Given the description of an element on the screen output the (x, y) to click on. 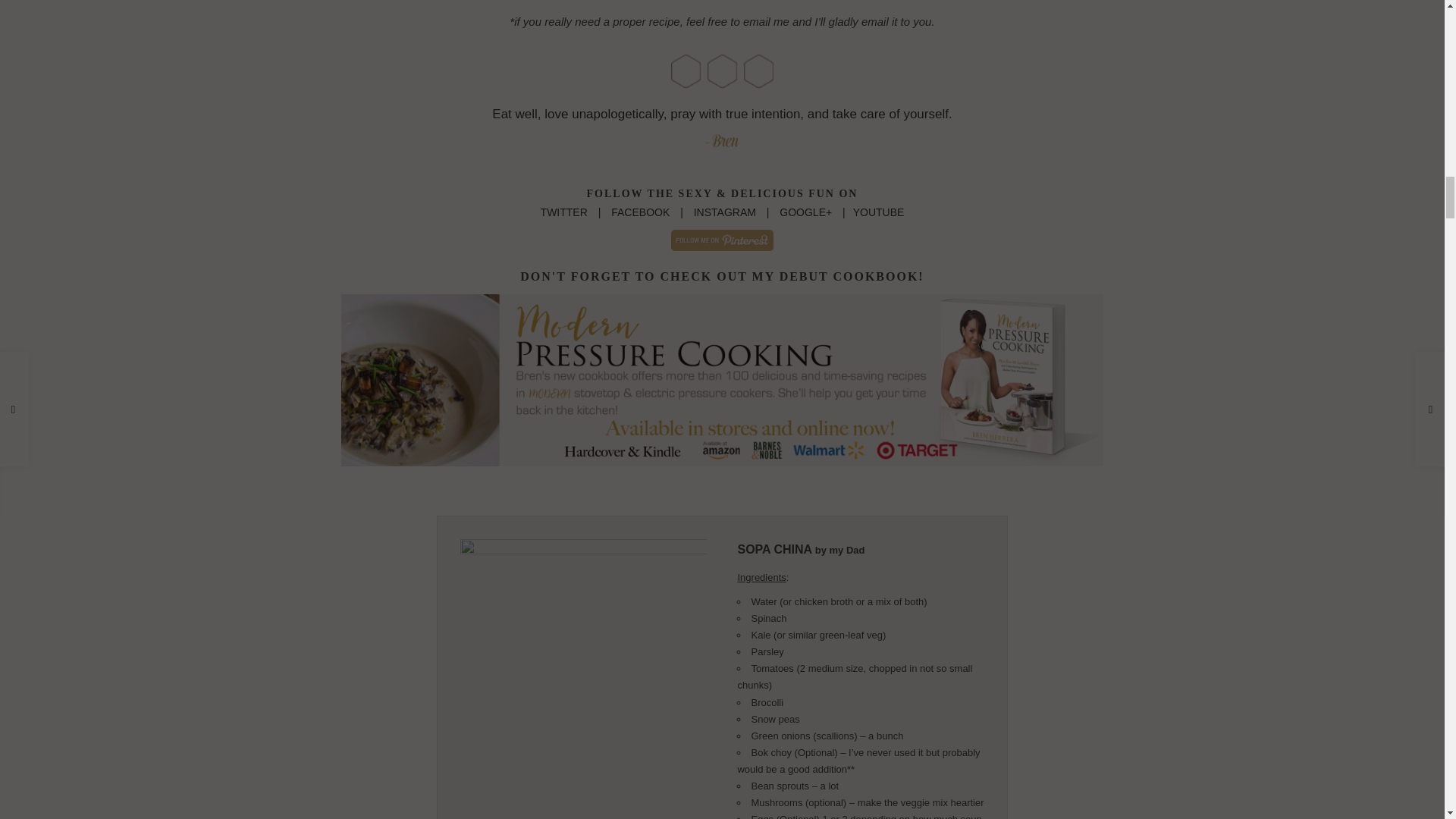
Bren Herrera on Pinterest (722, 238)
Bren Herrera on Pinterest (722, 240)
